Given the description of an element on the screen output the (x, y) to click on. 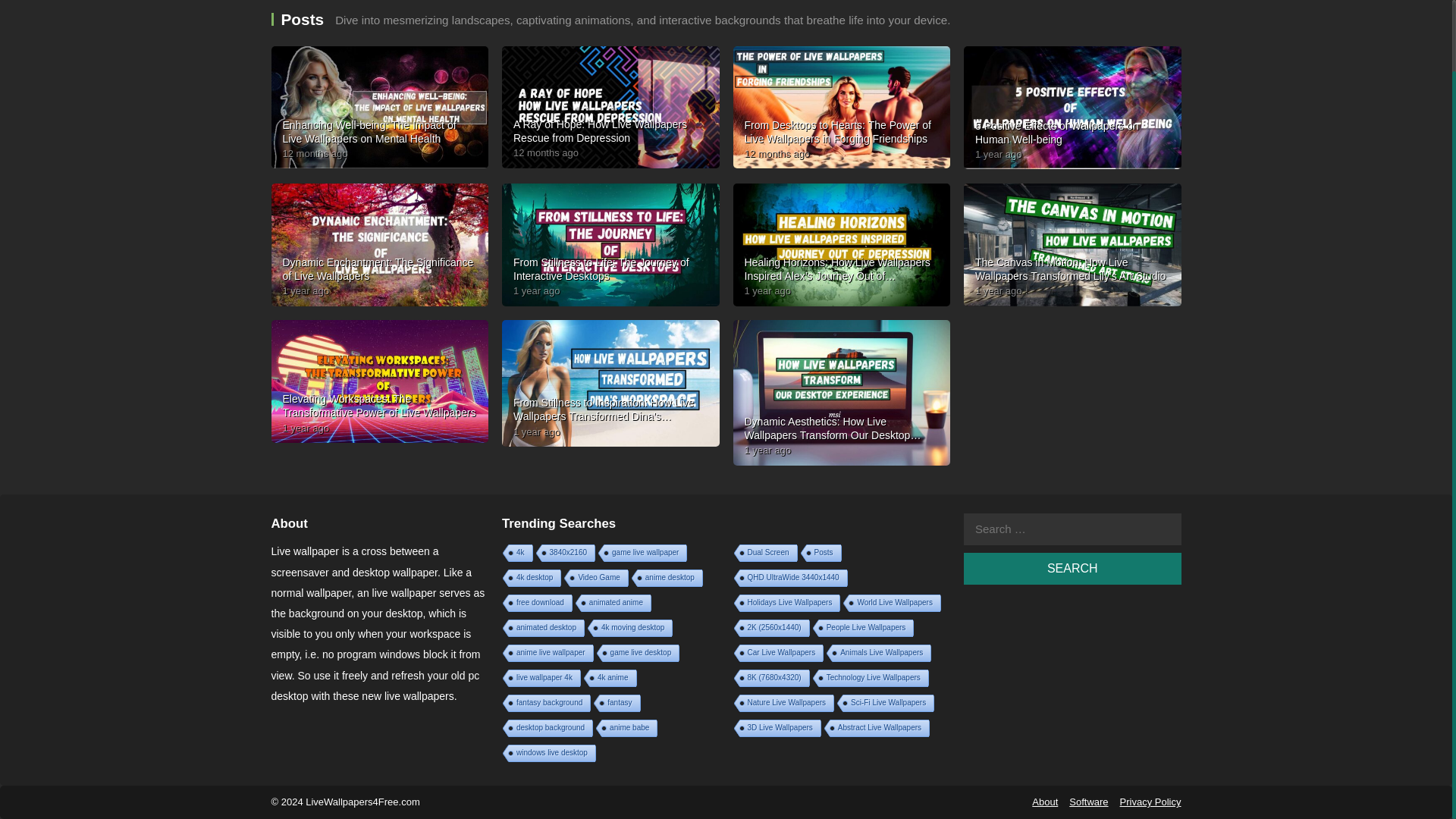
Search (1071, 568)
Search (1071, 568)
